Given the description of an element on the screen output the (x, y) to click on. 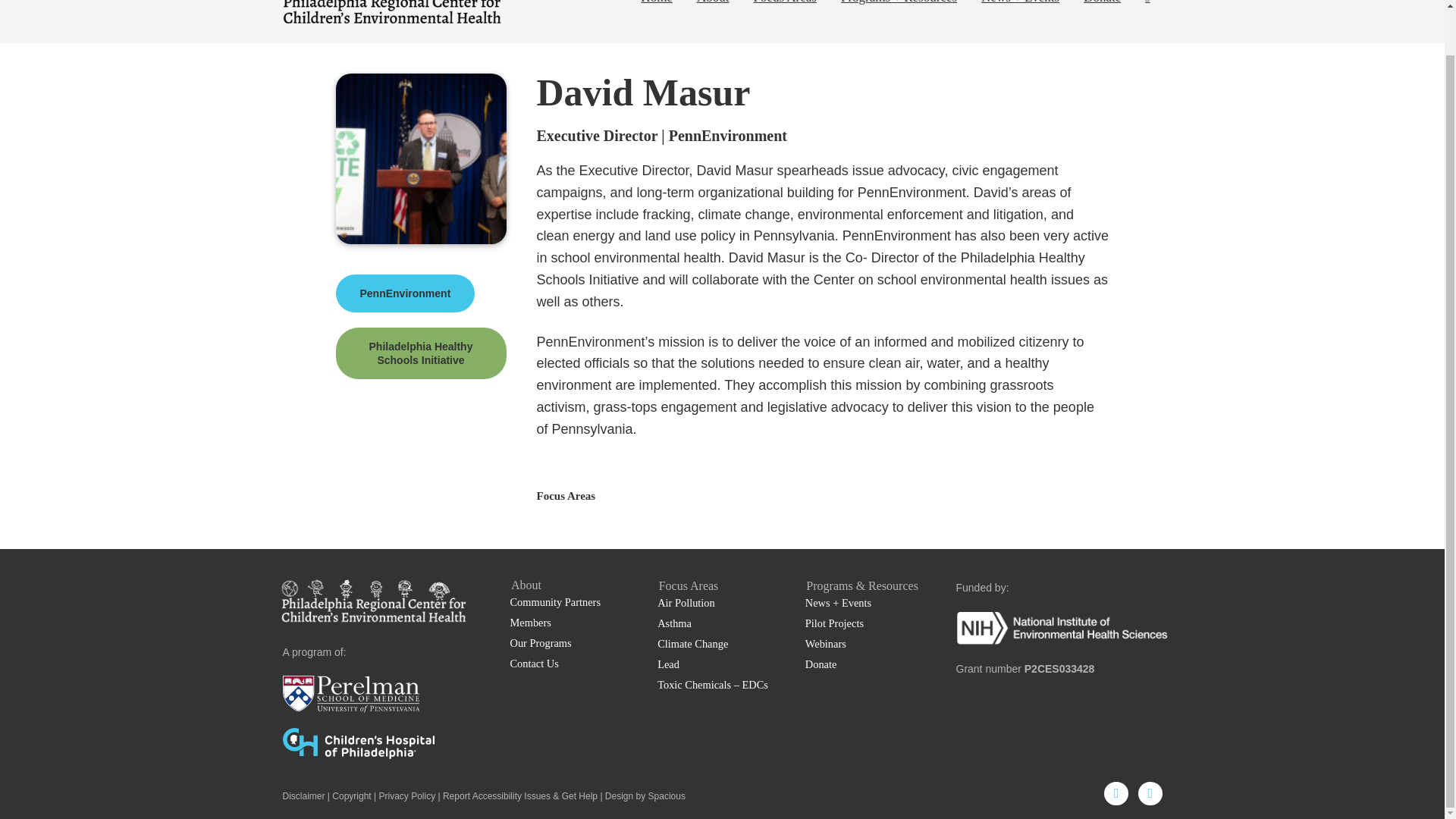
Focus Areas (784, 6)
Perelman School of Medicine logo (350, 693)
Children's Hospital of Philadelphia logo (357, 743)
David Masur (419, 158)
About (712, 6)
Search Toggle (1146, 6)
Donate (1101, 6)
Home (656, 6)
